Given the description of an element on the screen output the (x, y) to click on. 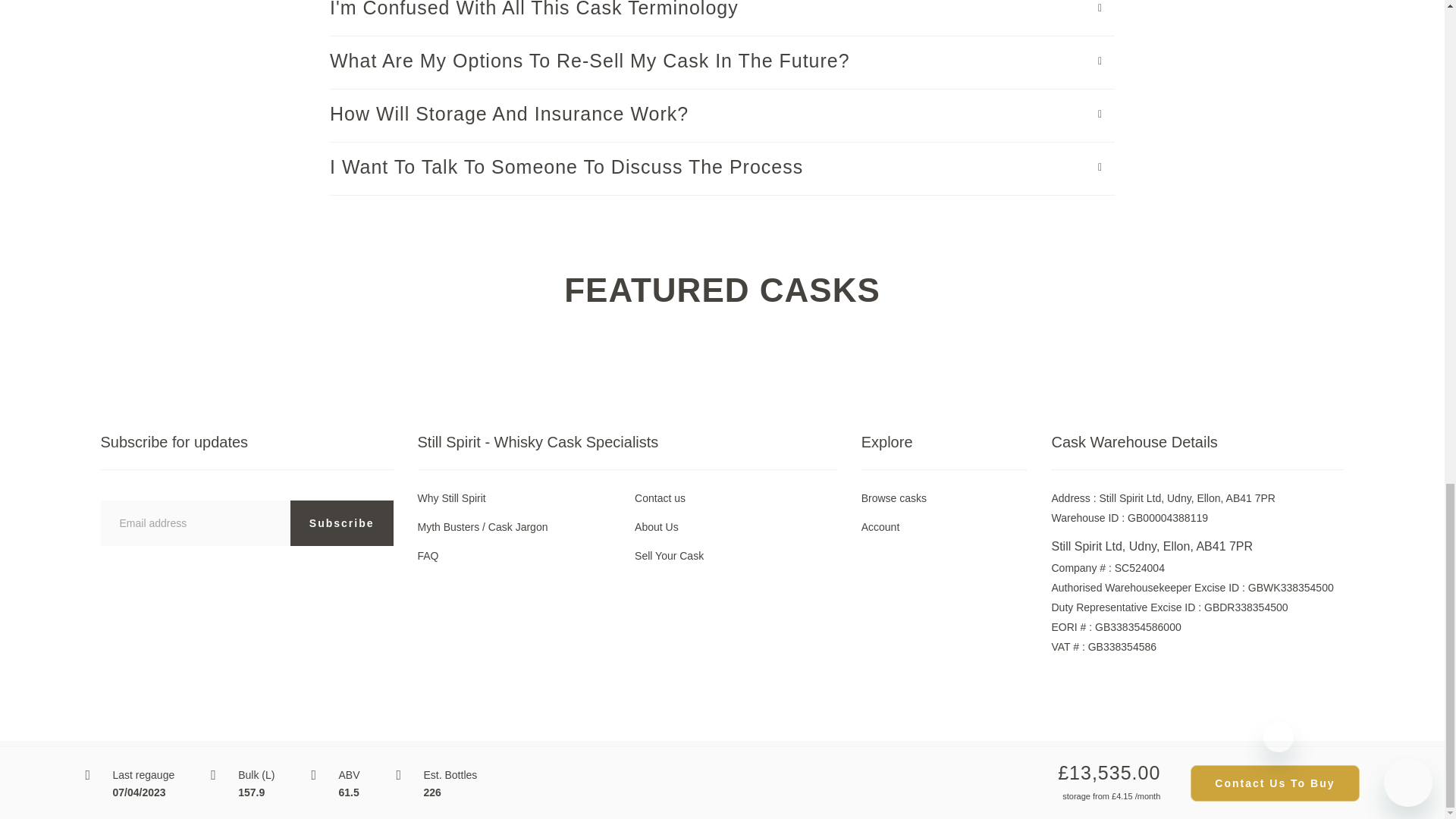
FAQ (427, 555)
Account (880, 526)
Opens in a new window (534, 772)
Contact us (659, 498)
Sell Your Cask (668, 555)
Why Still Spirit (450, 498)
Browse casks (893, 498)
About Us (656, 526)
Subscribe (341, 523)
